Given the description of an element on the screen output the (x, y) to click on. 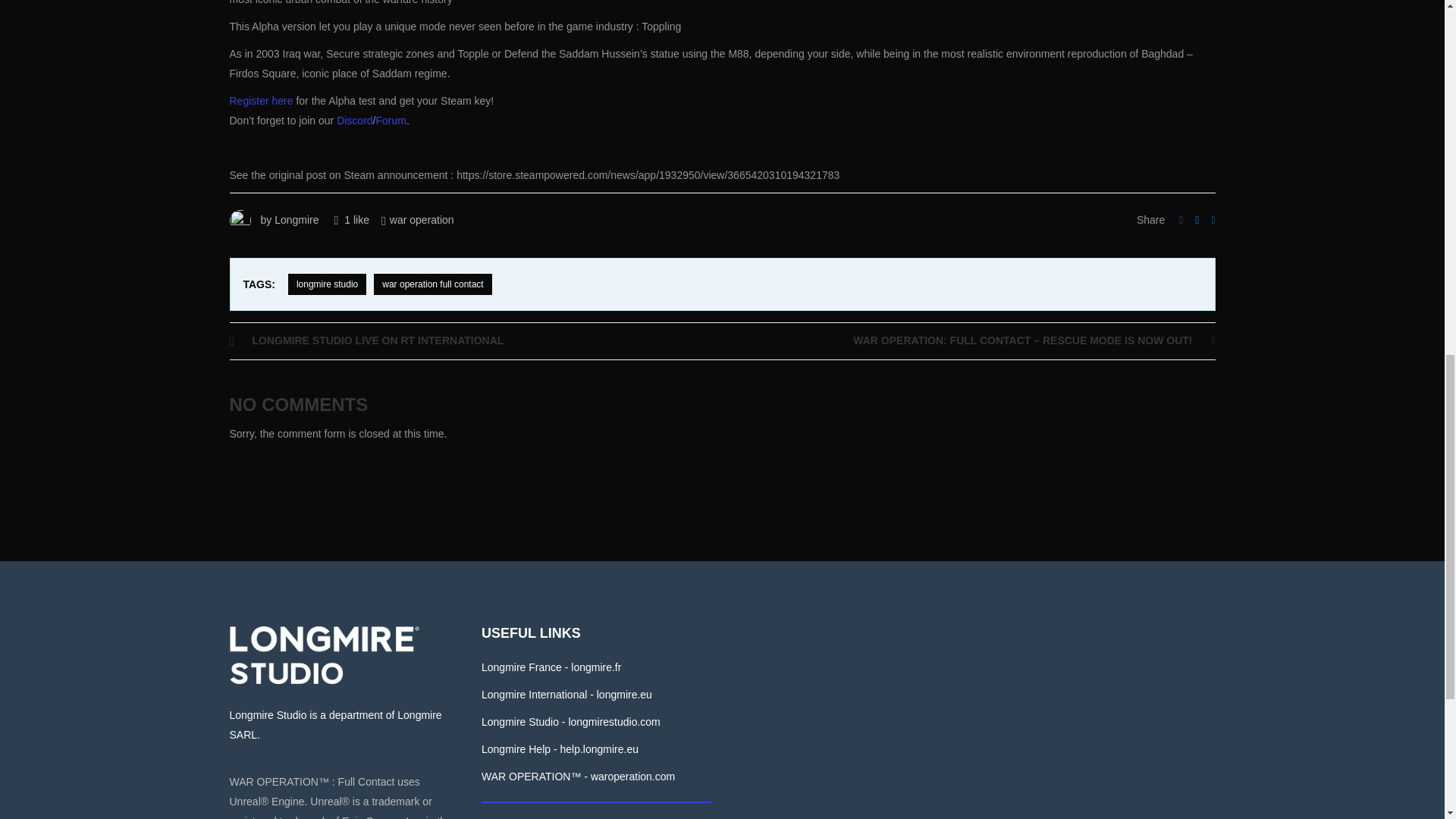
Like this (351, 219)
war operation (422, 219)
Register here (260, 101)
Longmire (296, 219)
longmire studio (327, 283)
Forum (390, 120)
war operation full contact (433, 283)
1 like (351, 219)
Discord (354, 120)
LONGMIRE STUDIO LIVE ON RT INTERNATIONAL (475, 340)
